Given the description of an element on the screen output the (x, y) to click on. 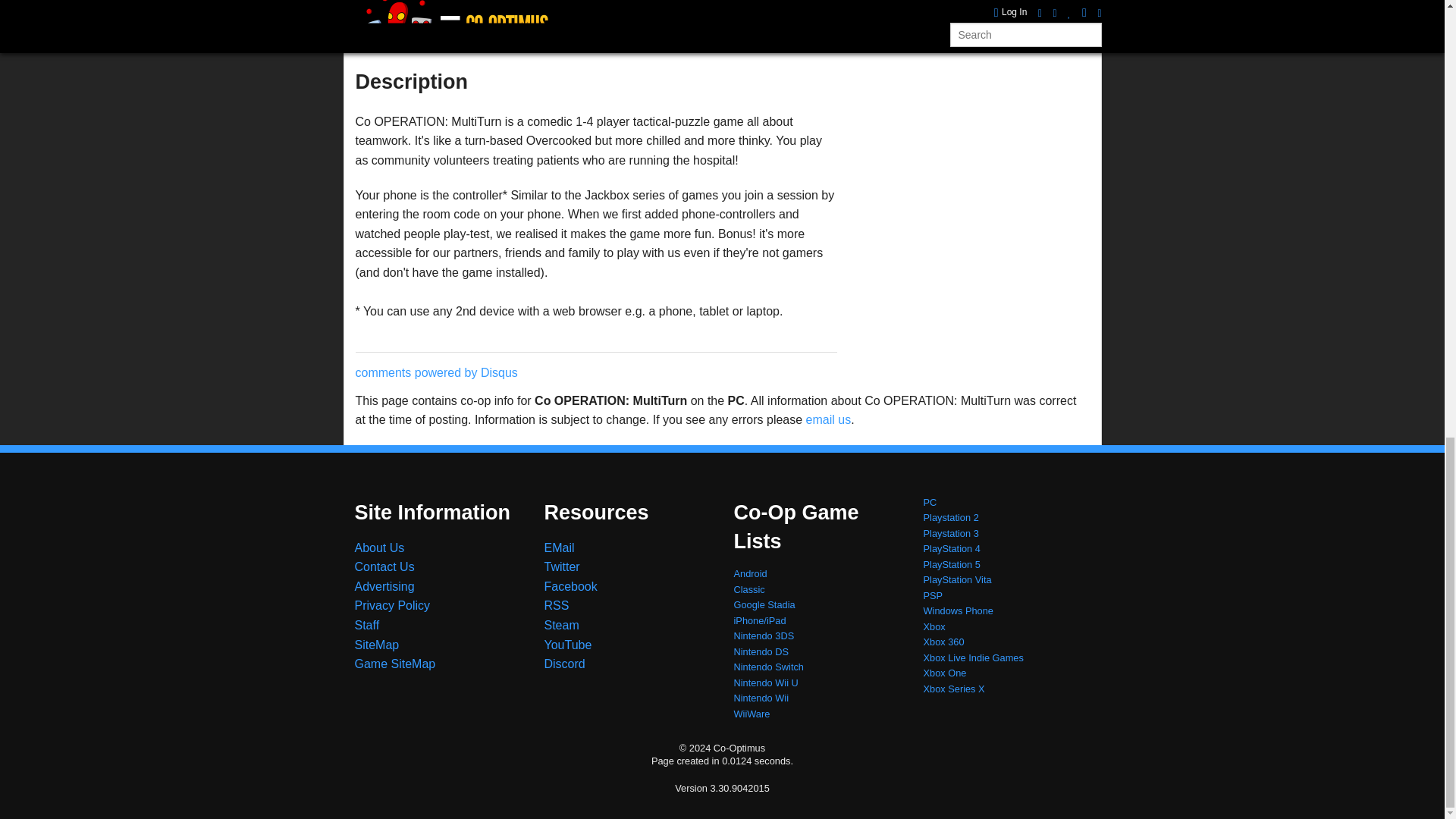
Join our Steam Group! (561, 625)
Advertising rates and traffic numbers. (384, 585)
Our current staff and bios. (367, 625)
comments powered by Disqus (435, 372)
